Given the description of an element on the screen output the (x, y) to click on. 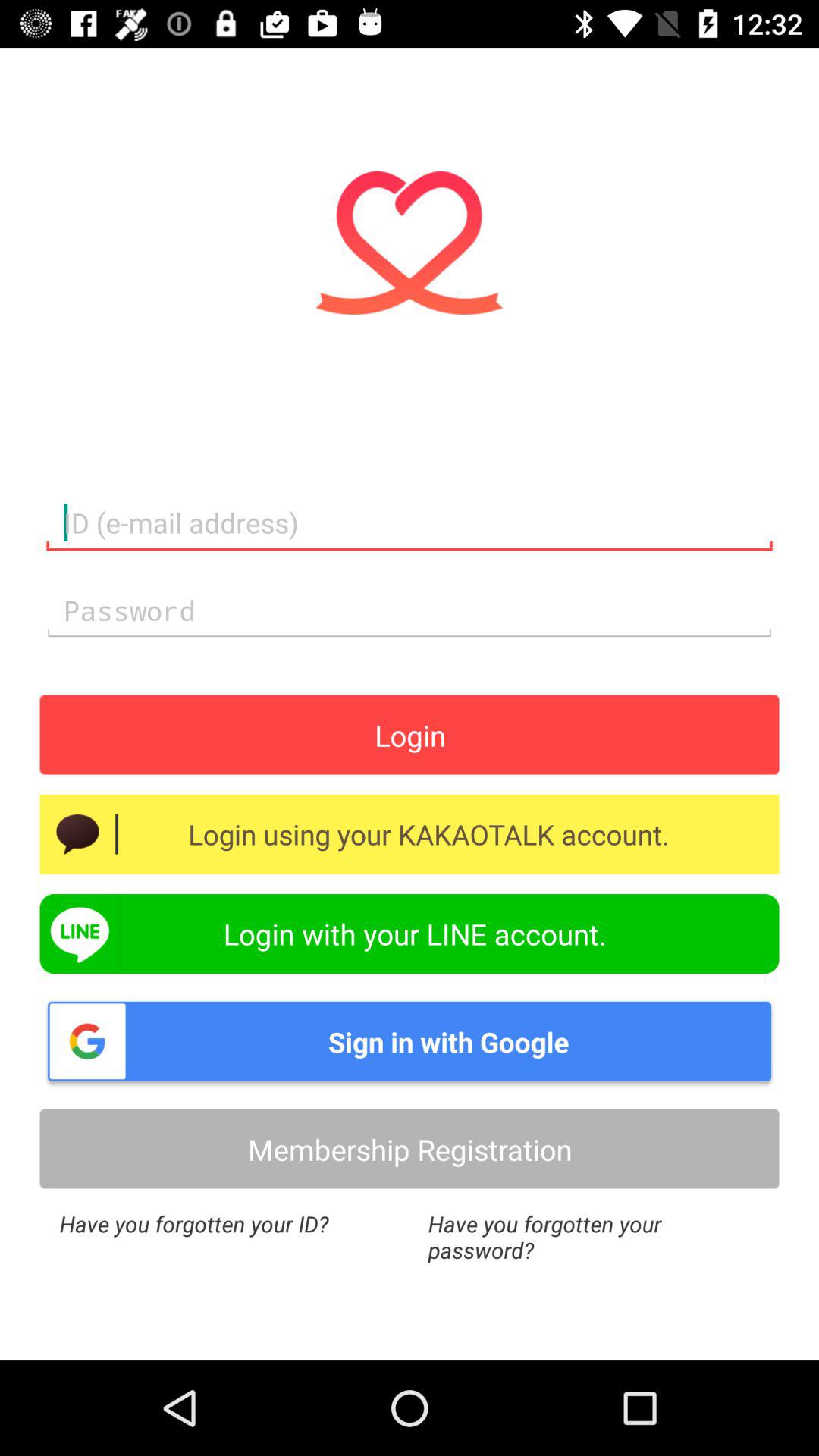
select the text and icon which is just above the membership registration (409, 1040)
click on login option (409, 734)
select the text right to have you forgotten your id at the bottom of the page (593, 1236)
select the 1st text field (409, 523)
select the  green color box (409, 933)
click on membership registration (409, 1149)
click the membership registration (409, 1149)
select the text from below the page (593, 1236)
click on login with your line account (409, 933)
click on the text field of email address (409, 523)
click on the chat option in the yellow field (77, 833)
click on the google sign in field above membership registration (409, 1040)
